Given the description of an element on the screen output the (x, y) to click on. 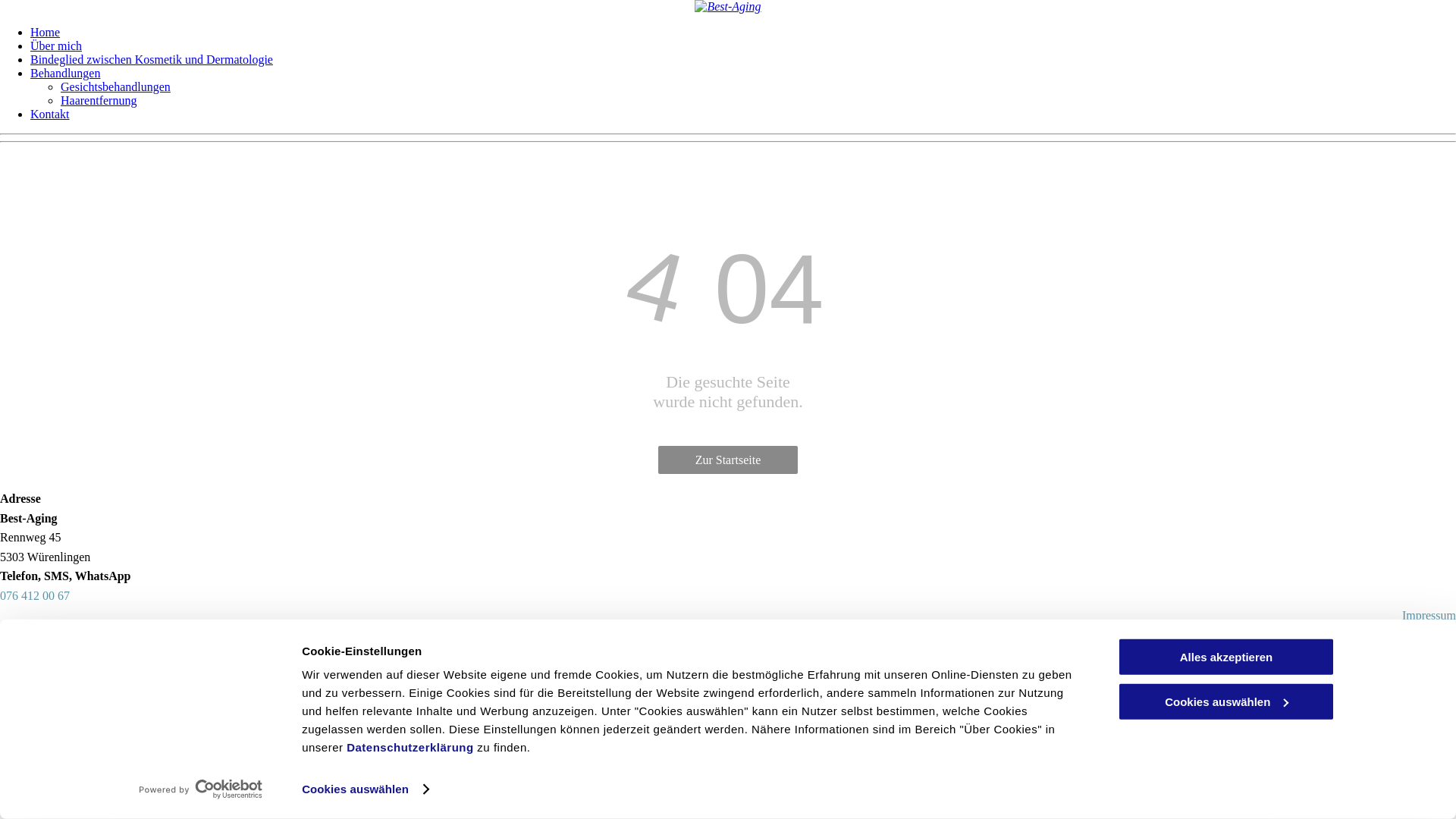
Gesichtsbehandlungen Element type: text (115, 86)
Behandlungen Element type: text (65, 72)
Zur Startseite Element type: text (727, 459)
Alles akzeptieren Element type: text (1225, 656)
Weiter (Pfeil nach rechts) Element type: hover (21, 662)
Vollbild ein-/ausschalten Element type: hover (36, 648)
Teilen Element type: hover (21, 648)
Bindeglied zwischen Kosmetik und Dermatologie Element type: text (151, 59)
Haarentfernung Element type: text (98, 100)
076 412 00 67 Element type: text (34, 595)
Kontakt Element type: text (49, 113)
Home Element type: text (44, 31)
